Given the description of an element on the screen output the (x, y) to click on. 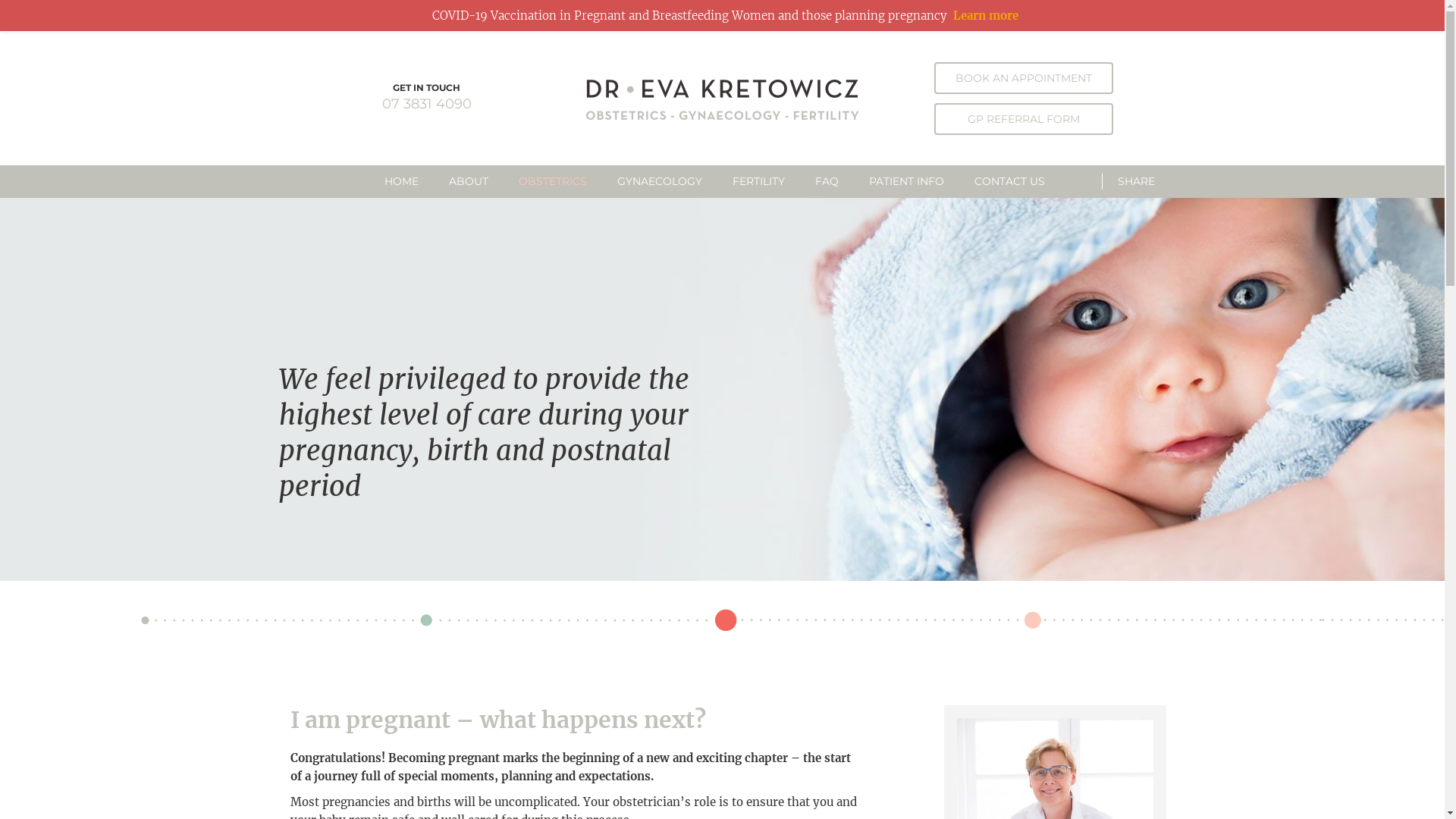
Dr. Eva Kretowicz Element type: hover (721, 98)
CONTACT US Element type: text (1009, 181)
Learn more Element type: text (984, 15)
PATIENT INFO Element type: text (906, 181)
ABOUT Element type: text (468, 181)
FAQ Element type: text (826, 181)
GYNAECOLOGY Element type: text (659, 181)
FERTILITY Element type: text (758, 181)
HOME Element type: text (408, 181)
OBSTETRICS Element type: text (552, 181)
07 3831 4090 Element type: text (426, 103)
GP REFERRAL FORM Element type: text (1023, 118)
BOOK AN APPOINTMENT Element type: text (1023, 77)
